Given the description of an element on the screen output the (x, y) to click on. 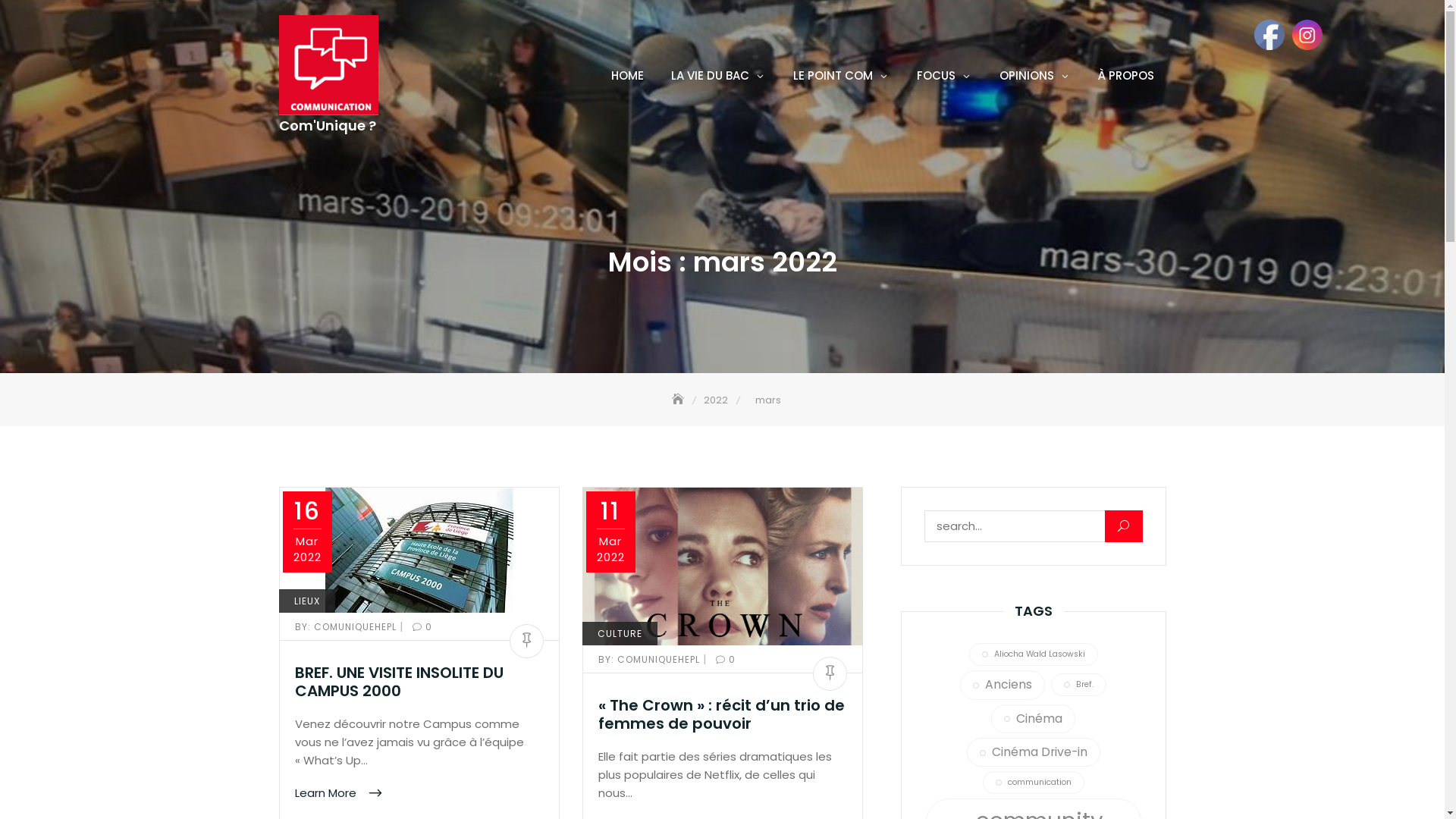
Aliocha Wald Lasowski Element type: text (1033, 654)
CULTURE Element type: text (619, 633)
Rechercher Element type: text (45, 15)
BREF. UNE VISITE INSOLITE DU CAMPUS 2000 Element type: text (398, 681)
11
Mar
2022 Element type: text (609, 531)
LIEUX Element type: text (307, 600)
Instagram Element type: hover (1307, 34)
0 Element type: text (722, 658)
2022 Element type: text (717, 399)
communication Element type: text (1033, 782)
LE POINT COM Element type: text (841, 74)
Learn More Element type: text (338, 793)
LA VIE DU BAC Element type: text (717, 74)
Anciens Element type: text (1002, 684)
0 Element type: text (419, 626)
Facebook Element type: hover (1269, 34)
HOME Element type: text (627, 74)
16
Mar
2022 Element type: text (306, 531)
BY: COMUNIQUEHEPL Element type: text (649, 658)
FOCUS Element type: text (943, 74)
Com'Unique ? Element type: text (327, 125)
Bref. Element type: text (1078, 684)
BY: COMUNIQUEHEPL Element type: text (346, 626)
Home Element type: text (679, 399)
OPINIONS Element type: text (1034, 74)
